Given the description of an element on the screen output the (x, y) to click on. 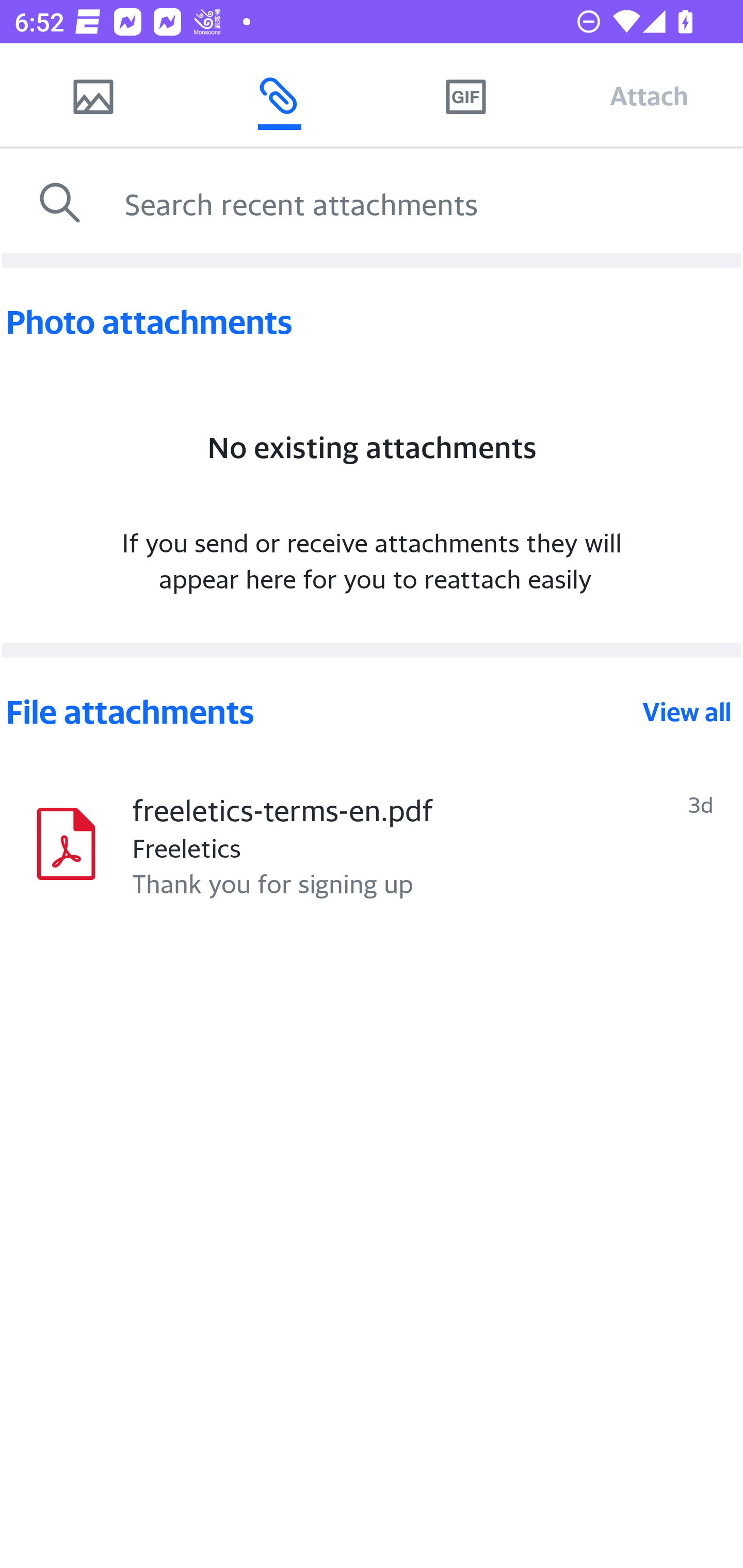
Camera photos (93, 95)
Recent attachments from mail (279, 95)
GIFs (465, 95)
Attach (649, 95)
Search recent attachments (428, 203)
Photo attachments (371, 322)
File attachments (321, 711)
